Given the description of an element on the screen output the (x, y) to click on. 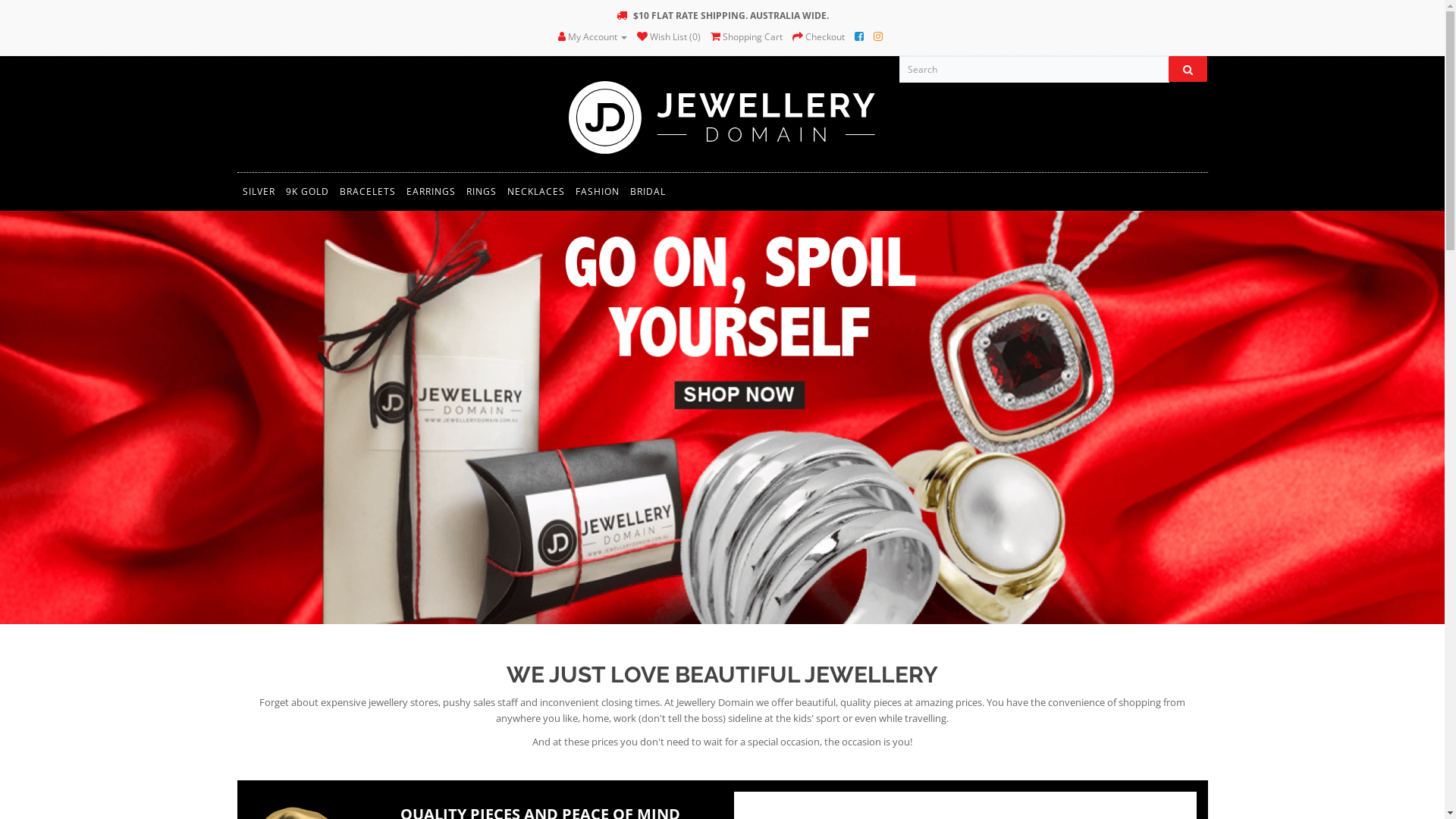
Shopping Cart Element type: text (746, 36)
RINGS Element type: text (481, 191)
Checkout Element type: text (818, 36)
9K GOLD Element type: text (307, 191)
Jewellery Domain Element type: hover (721, 115)
SILVER Element type: text (257, 191)
NECKLACES Element type: text (536, 191)
EARRINGS Element type: text (430, 191)
BRACELETS Element type: text (366, 191)
BRIDAL Element type: text (647, 191)
My Account Element type: text (592, 36)
FASHION Element type: text (597, 191)
Join us on Facebook Element type: hover (858, 36)
Join us on Instagram Element type: hover (877, 36)
Wish List (0) Element type: text (668, 36)
